Given the description of an element on the screen output the (x, y) to click on. 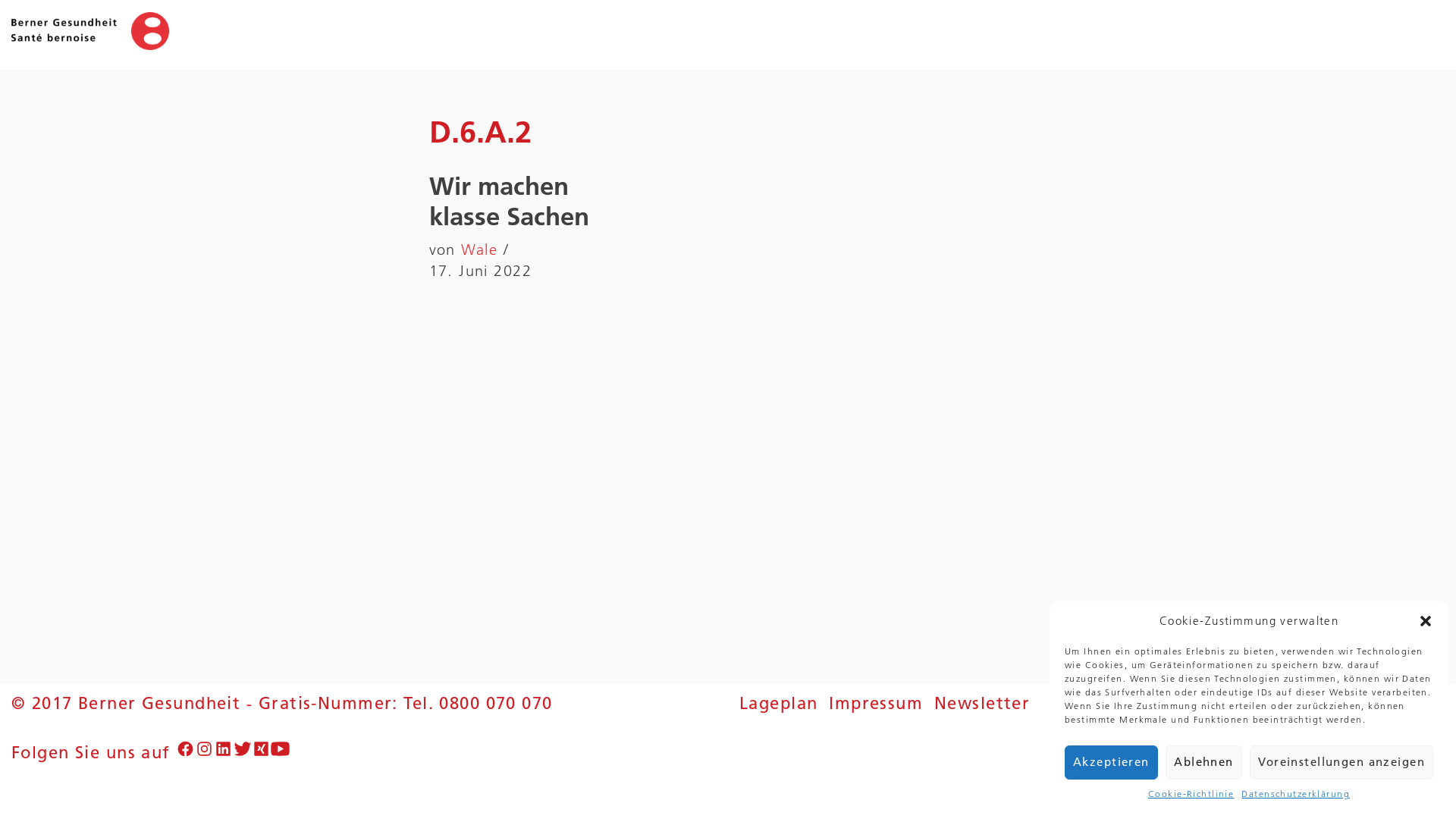
Ablehnen Element type: text (1203, 762)
Cookie-Richtlinie Element type: text (1190, 793)
0800 070 070 Element type: text (495, 703)
Wale Element type: text (479, 249)
Lageplan Element type: text (778, 703)
Wir machen klasse Sachen Element type: text (509, 201)
Impressum  Element type: text (878, 703)
Newsletter Element type: text (981, 703)
Akzeptieren Element type: text (1110, 762)
Zum Inhalt Element type: text (11, 31)
Voreinstellungen anzeigen Element type: text (1341, 762)
